Given the description of an element on the screen output the (x, y) to click on. 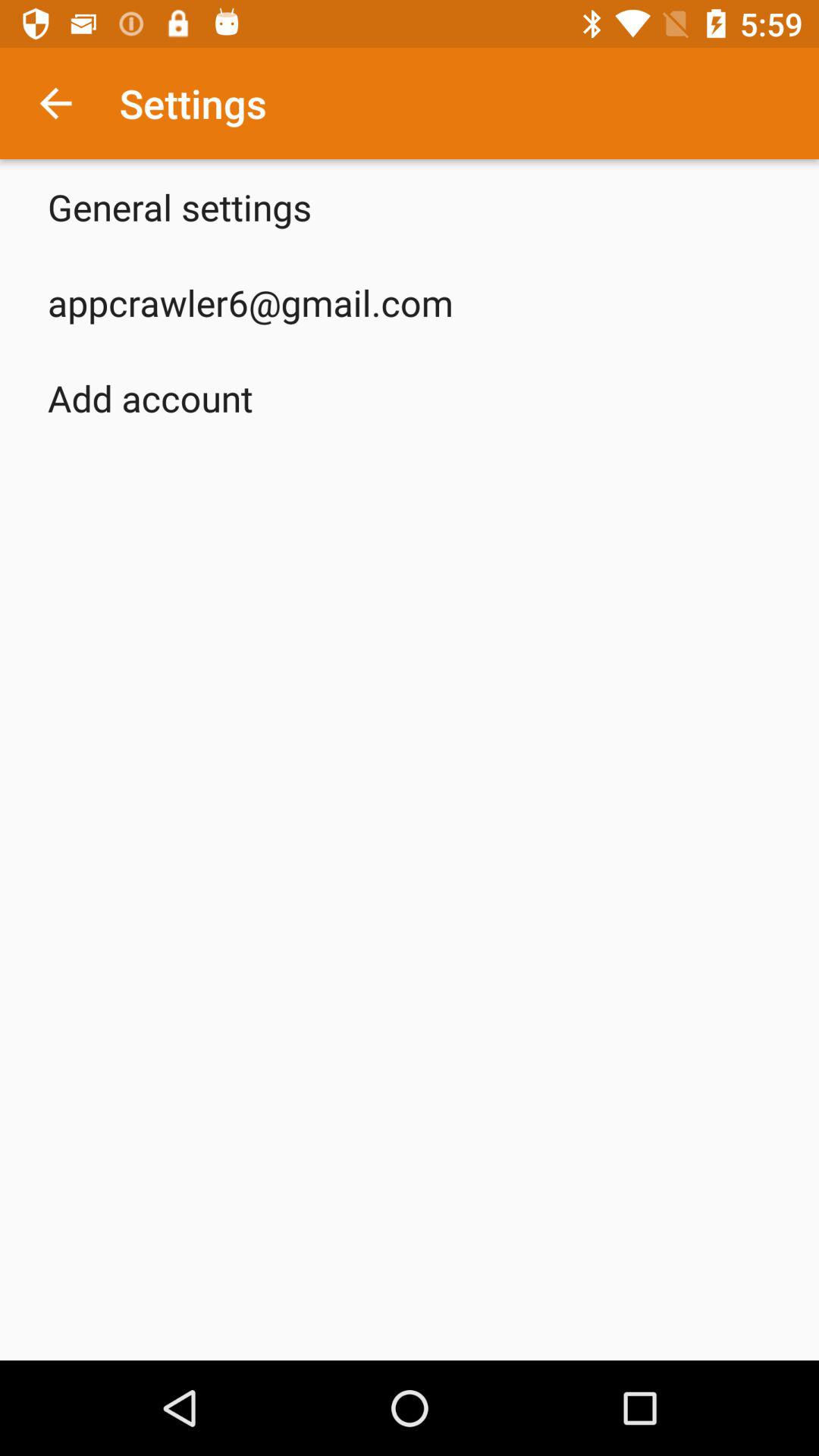
turn on appcrawler6@gmail.com app (250, 302)
